Given the description of an element on the screen output the (x, y) to click on. 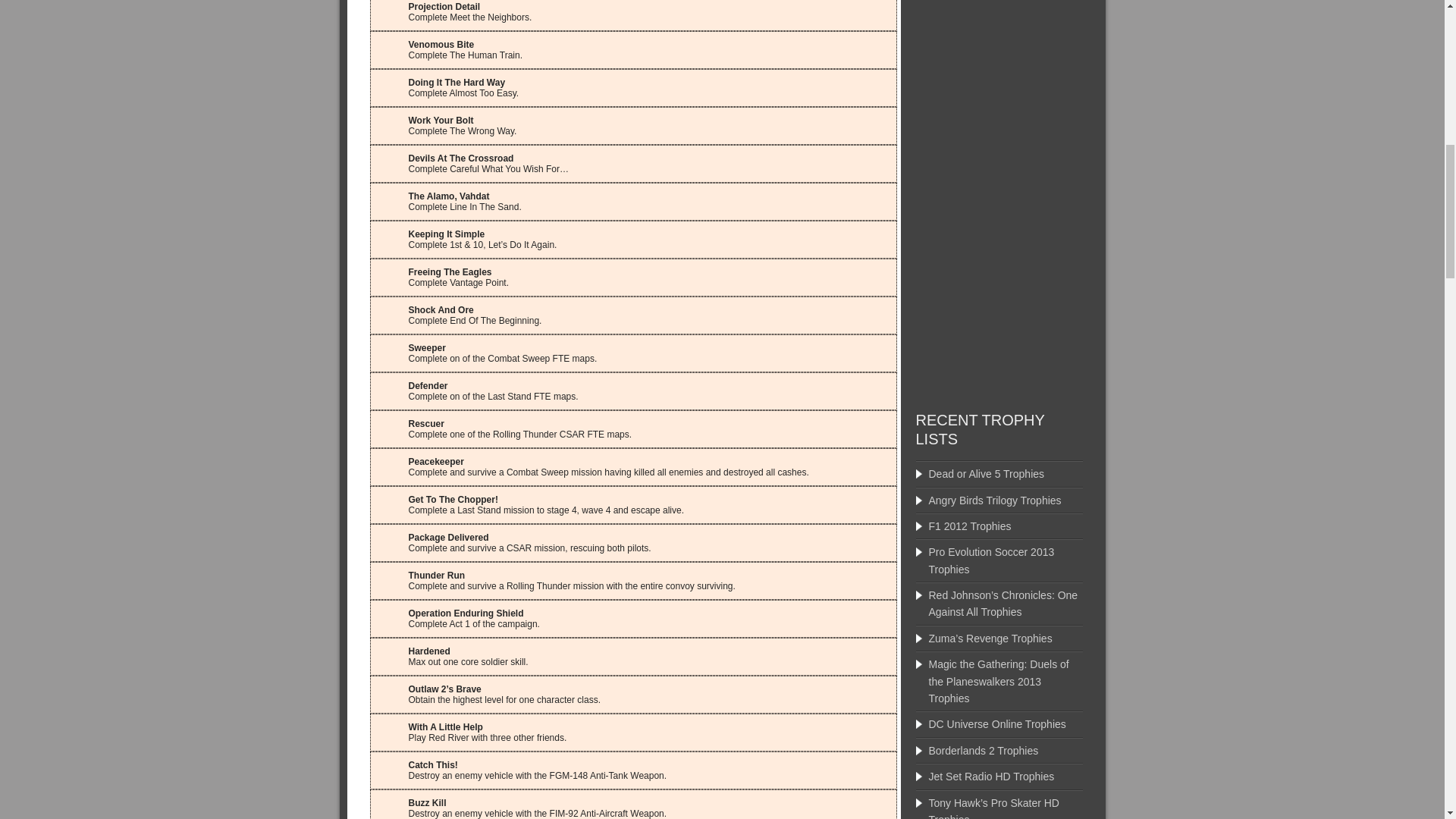
Dead or Alive 5 Trophies (985, 473)
DC Universe Online Trophies (996, 724)
Pro Evolution Soccer 2013 Trophies (991, 560)
Borderlands 2 Trophies (983, 750)
Jet Set Radio HD Trophies (991, 776)
F1 2012 Trophies (969, 526)
Angry Birds Trilogy Trophies (994, 500)
